Given the description of an element on the screen output the (x, y) to click on. 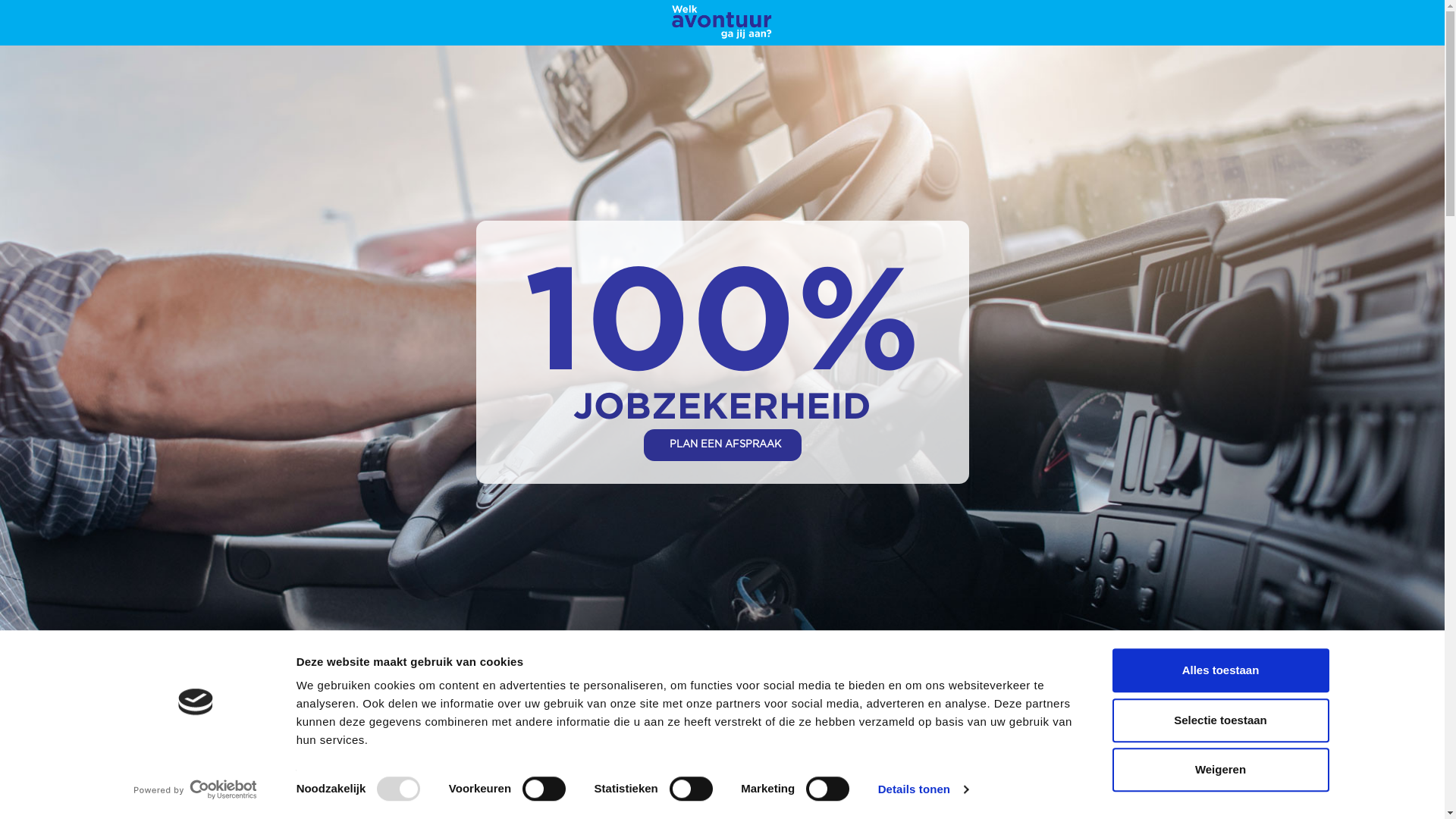
Jobzekerheid en voordelen Element type: text (356, 712)
Werkgevers in jouw buurt Element type: text (1091, 712)
Welk avontuur is er voor jou? Element type: text (727, 712)
Start je avontuur Element type: text (914, 712)
Zij gingen je voor Element type: text (539, 712)
PLAN EEN AFSPRAAK Element type: text (721, 445)
Selectie toestaan Element type: text (1219, 720)
Weigeren Element type: text (1219, 769)
Alles toestaan Element type: text (1219, 670)
Details tonen Element type: text (923, 789)
